Given the description of an element on the screen output the (x, y) to click on. 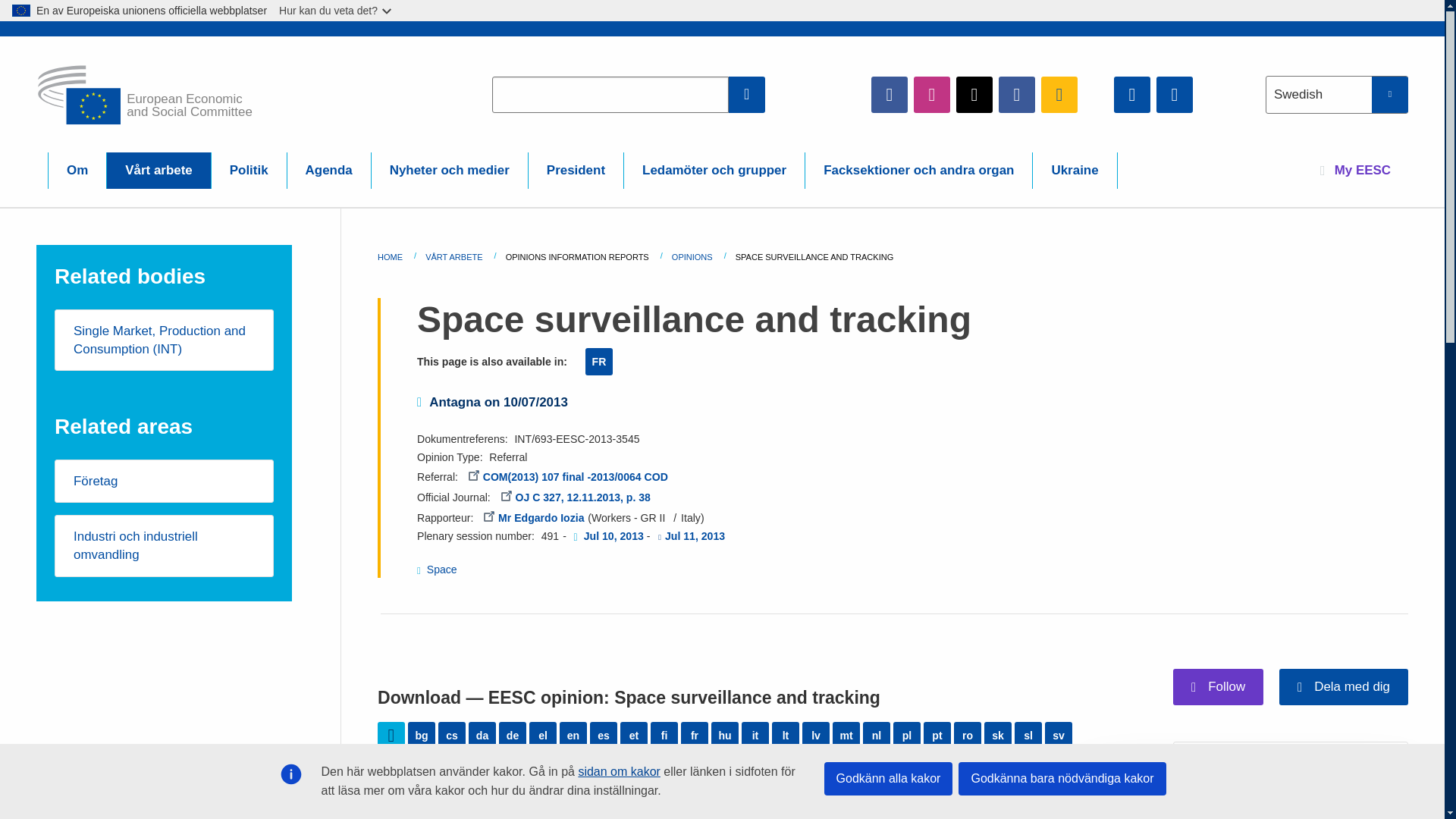
Hur kan du veta det? (335, 10)
sidan om kakor (619, 771)
My EESC (1355, 170)
Search EESC Website (747, 94)
